Given the description of an element on the screen output the (x, y) to click on. 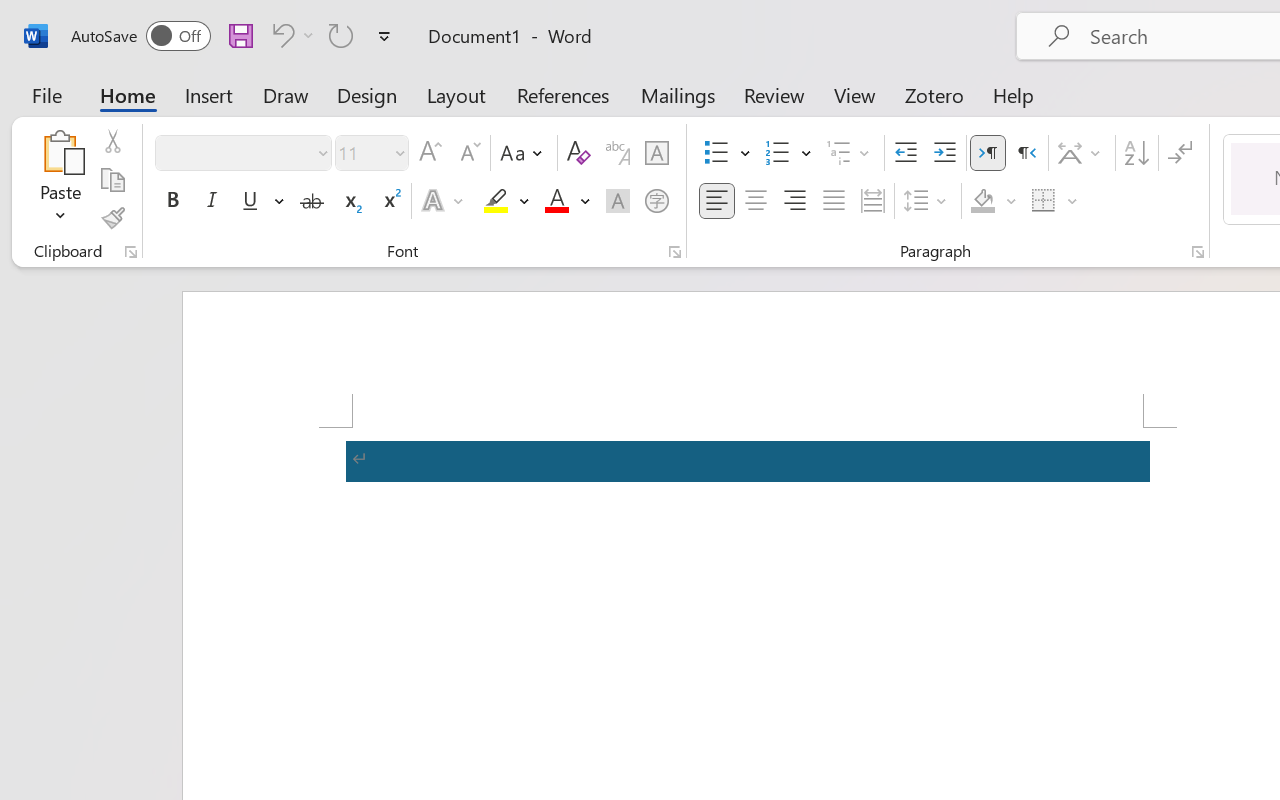
Undo Apply Quick Style Set (290, 35)
